Given the description of an element on the screen output the (x, y) to click on. 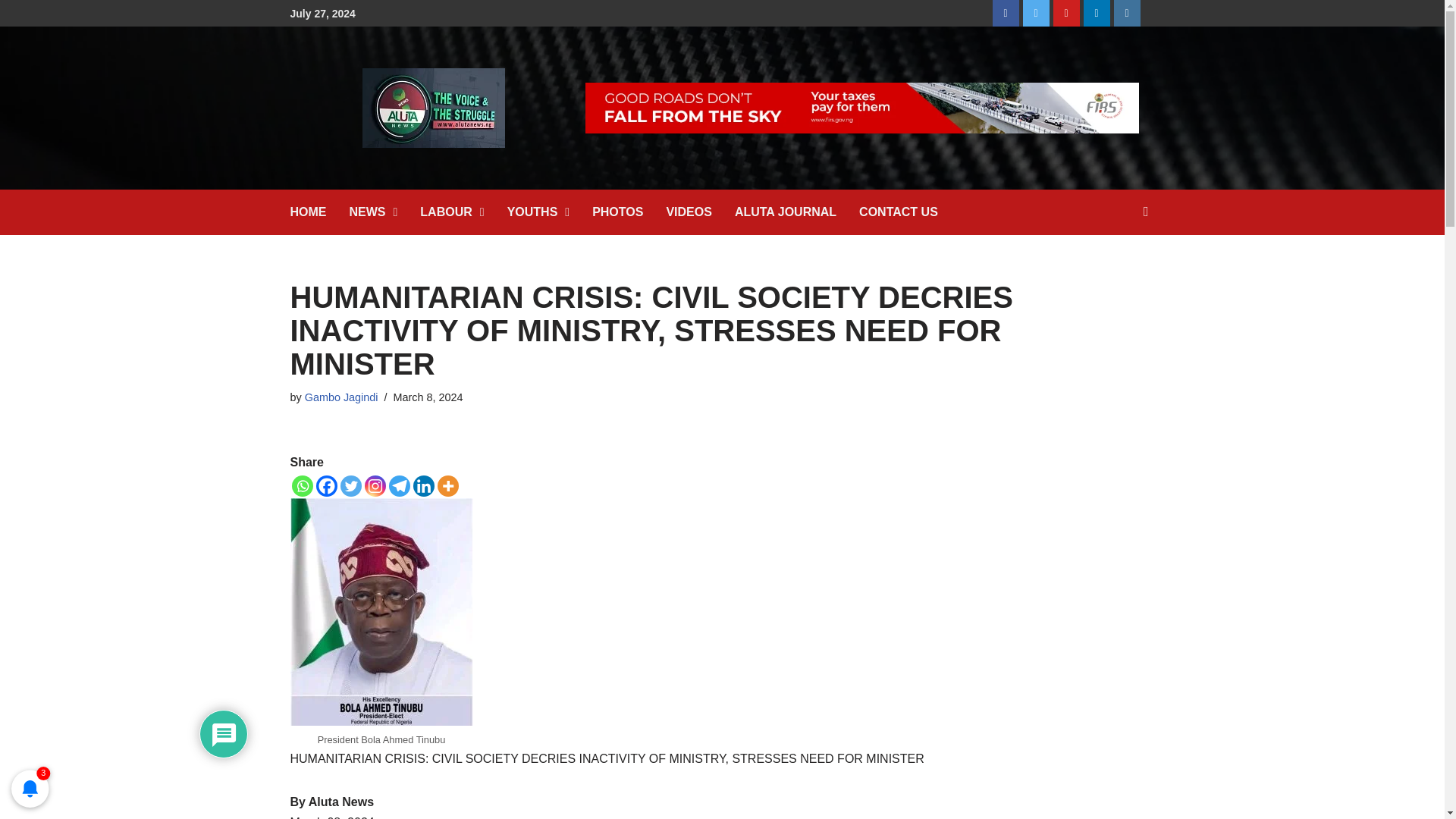
Posts by Gambo Jagindi (341, 397)
Linkedin (422, 485)
linkedin (1096, 13)
HOME (319, 211)
youtube (1066, 13)
Instagram (374, 485)
ALUTA JOURNAL (797, 211)
instagram (1126, 13)
Twitter (350, 485)
More (447, 485)
NEWS (384, 211)
Telegram (398, 485)
Whatsapp (302, 485)
twitter (1036, 13)
facebook (1005, 13)
